Given the description of an element on the screen output the (x, y) to click on. 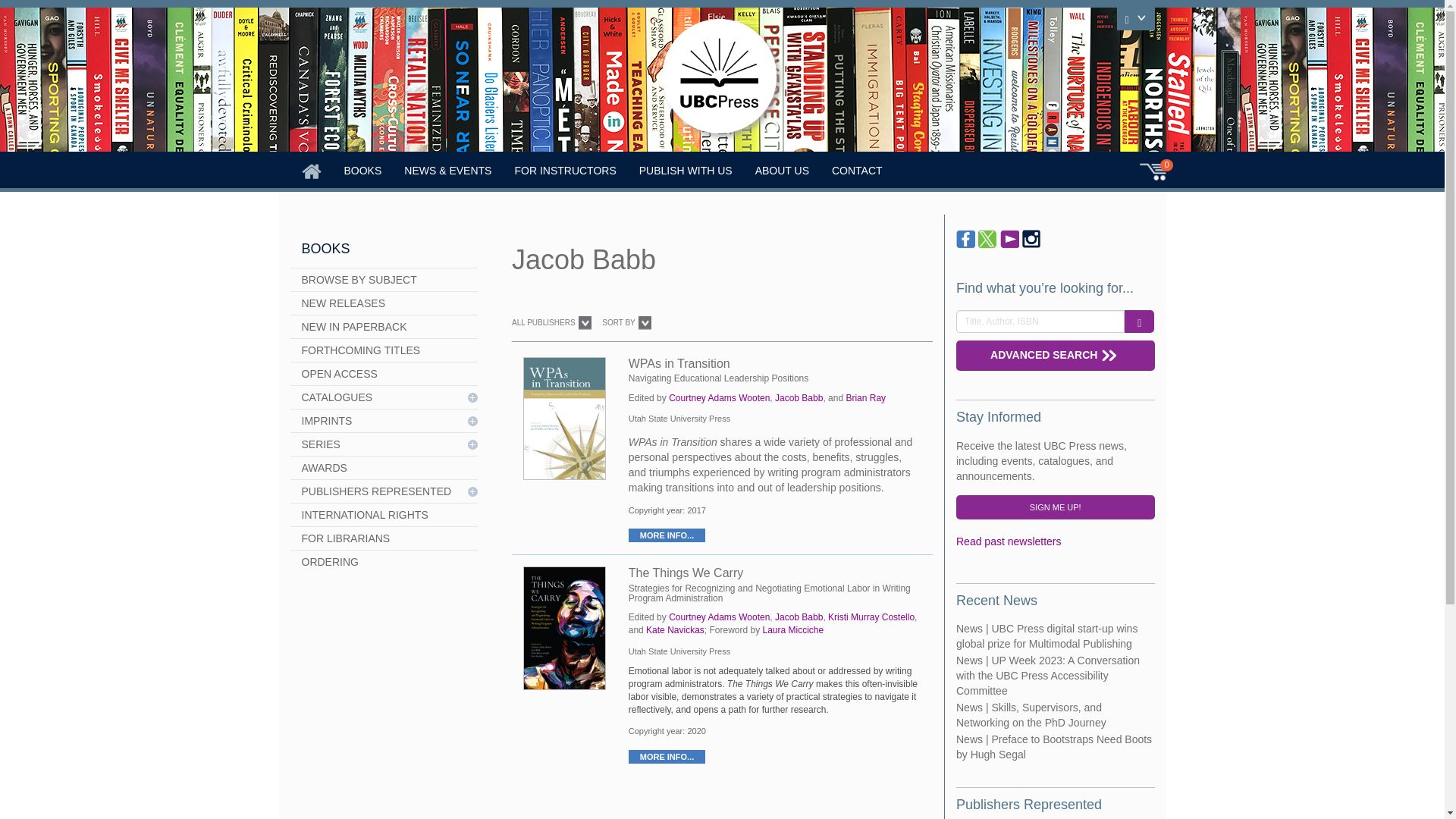
YouTube page (1009, 239)
BOOKS (362, 170)
Instagram page (1031, 239)
Twitter page (987, 239)
Facebook page (965, 239)
